Given the description of an element on the screen output the (x, y) to click on. 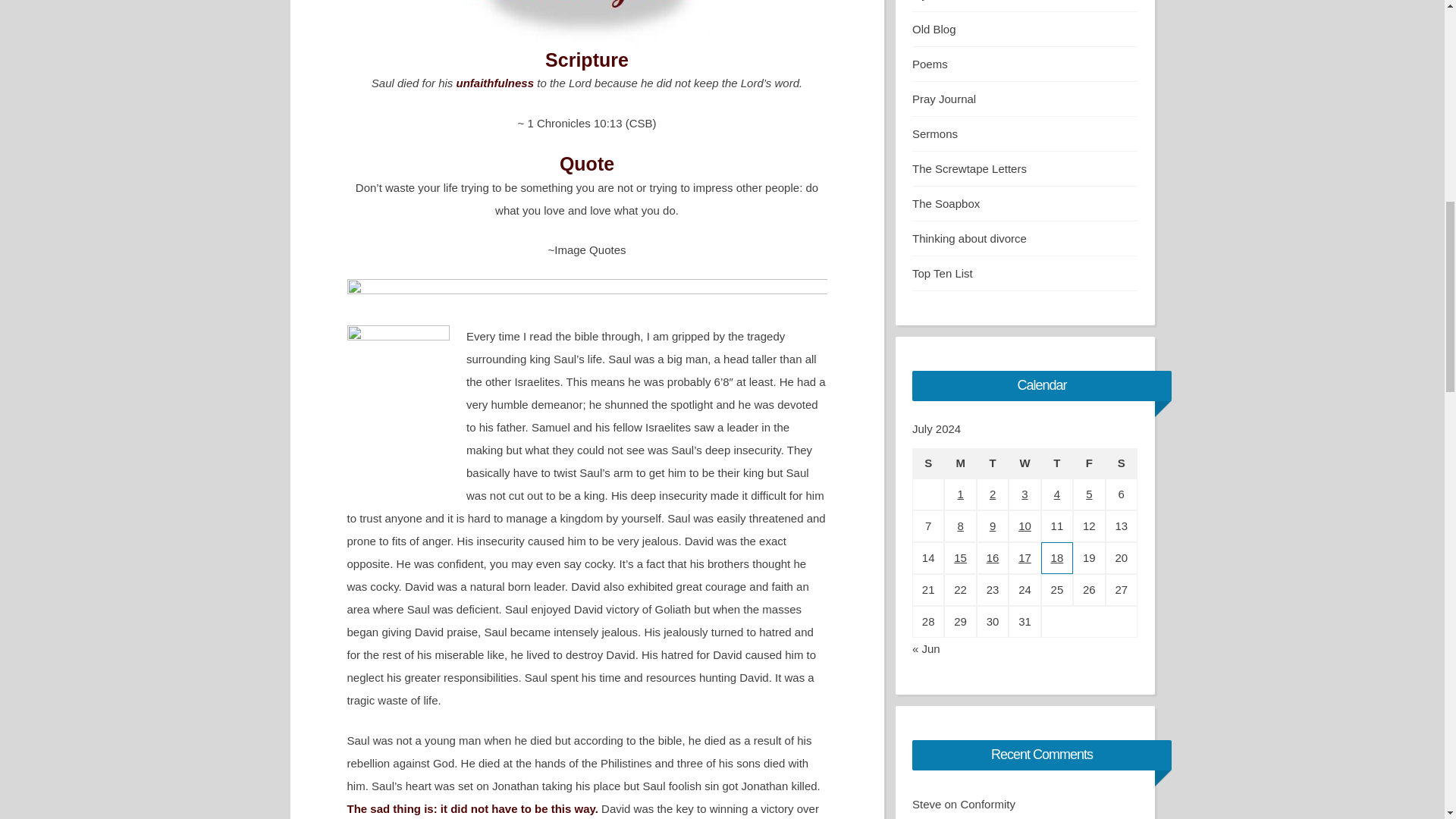
Friday (1089, 462)
Monday (959, 462)
Tuesday (992, 462)
My Stories (939, 0)
Wednesday (1025, 462)
Sunday (927, 462)
Thursday (1057, 462)
Top Ten List (942, 273)
